Given the description of an element on the screen output the (x, y) to click on. 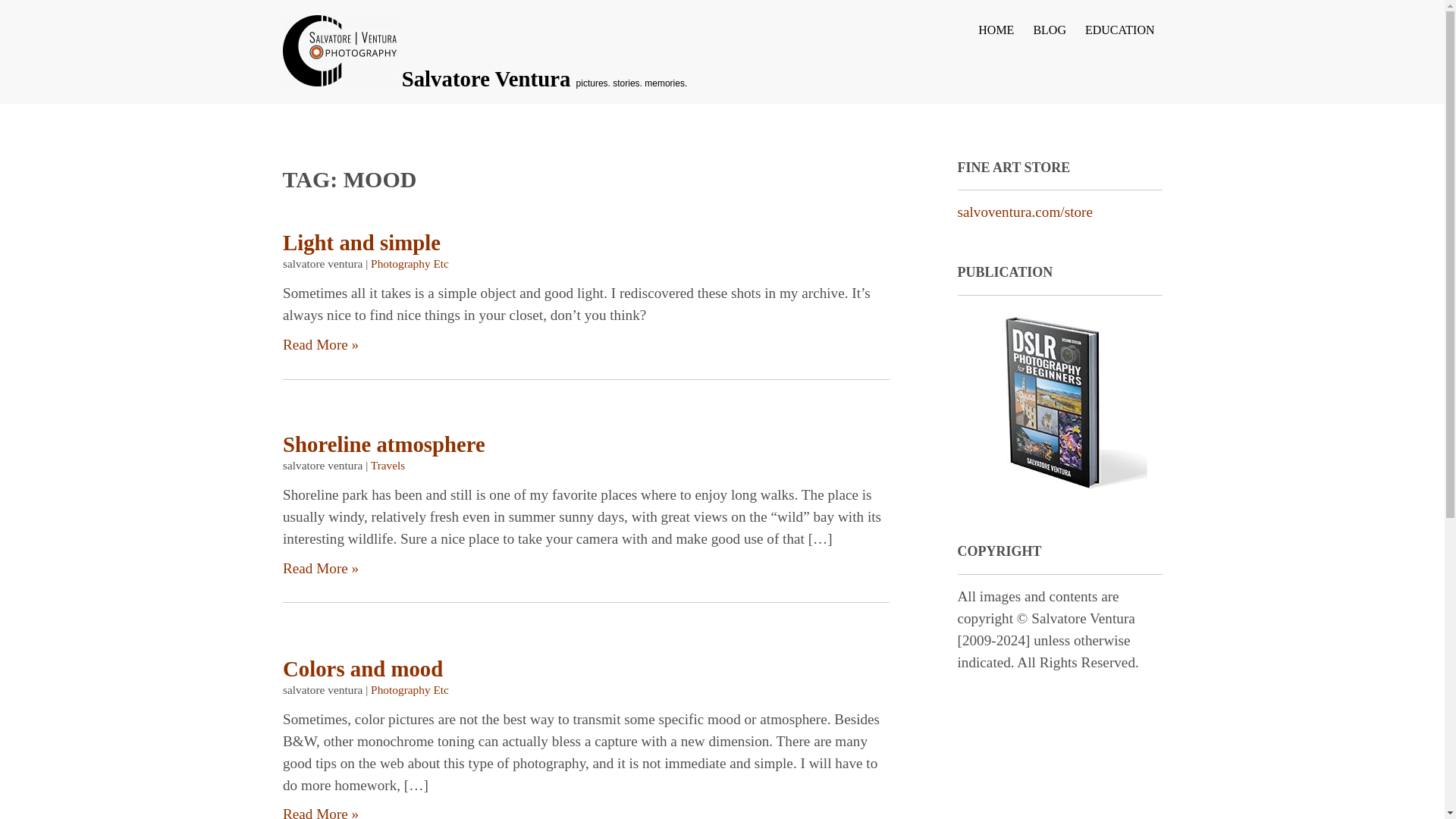
HOME (994, 36)
Light and simple (360, 241)
Shoreline atmosphere (383, 444)
Salvatore Ventura (488, 78)
Photography Etc (409, 263)
Colors and mood (362, 668)
EDUCATION (1117, 36)
Photography Etc (409, 689)
BLOG (1048, 36)
Travels (386, 465)
